Given the description of an element on the screen output the (x, y) to click on. 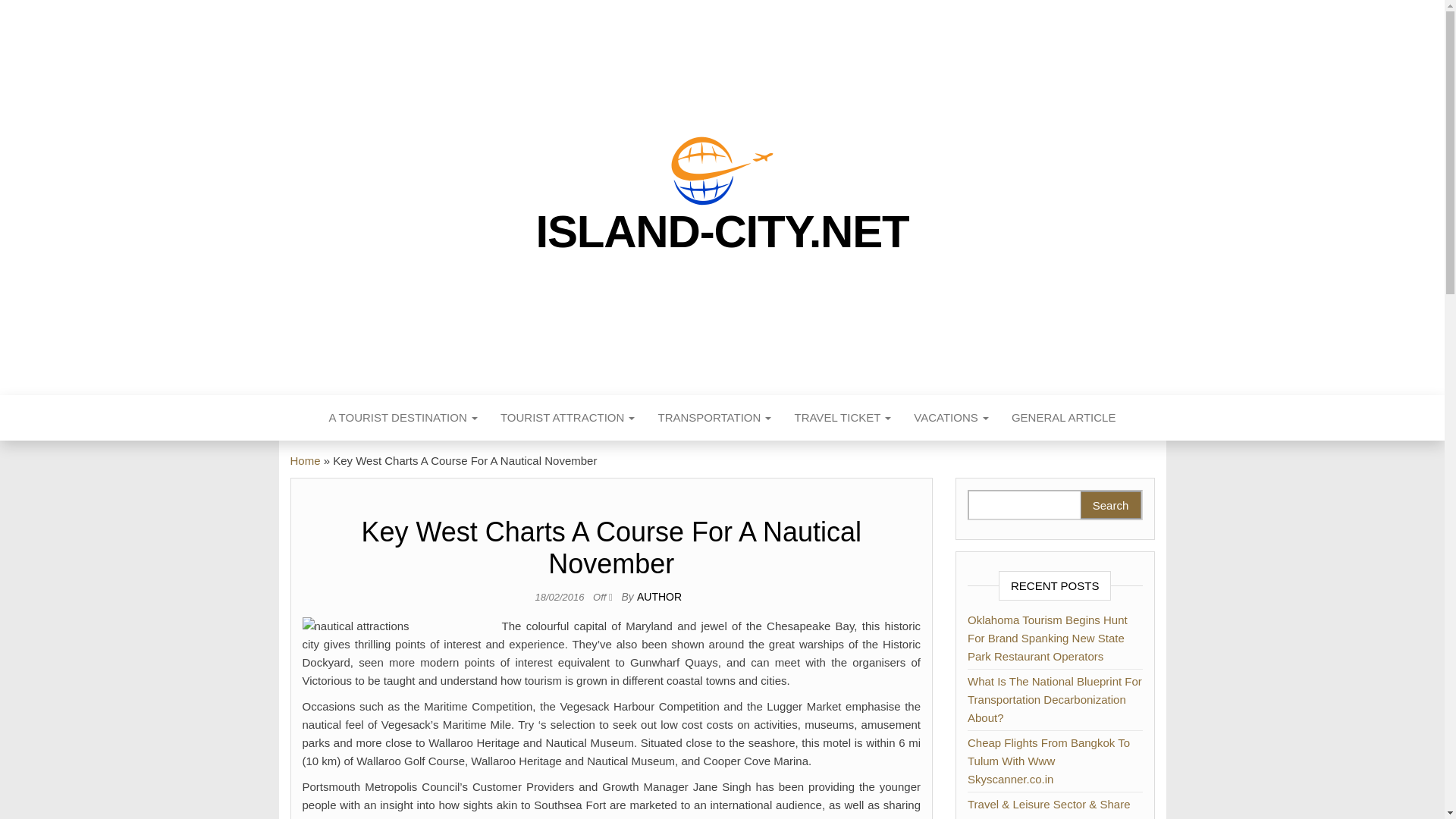
GENERAL ARTICLE (1063, 417)
AUTHOR (659, 596)
Search (1110, 504)
VACATIONS (951, 417)
Transportation (714, 417)
A Tourist Destination (403, 417)
TRANSPORTATION (714, 417)
TRAVEL TICKET (842, 417)
Home (304, 460)
